Given the description of an element on the screen output the (x, y) to click on. 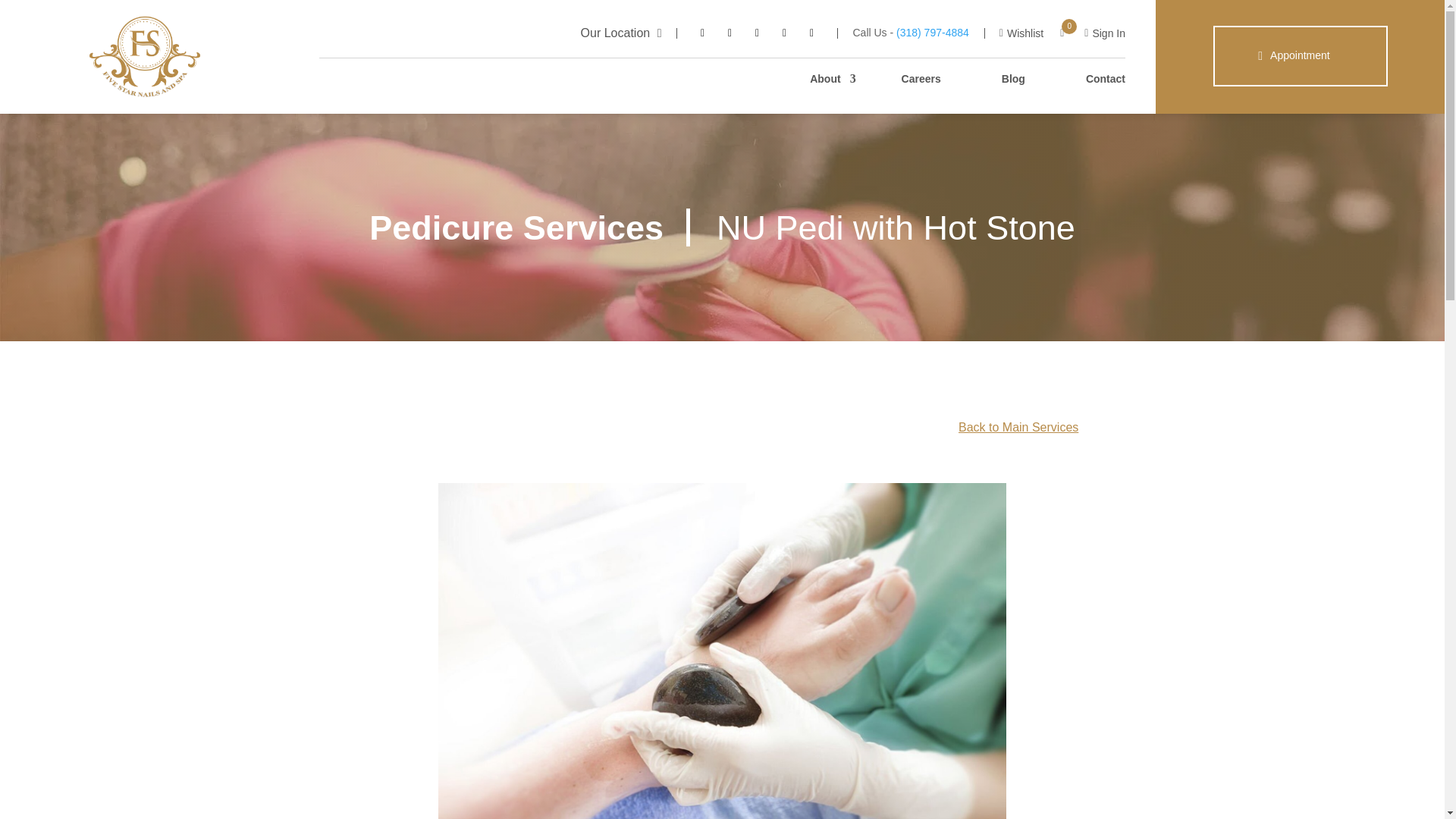
Sign In (1104, 32)
Blog (1013, 78)
Contact (1105, 78)
Wishlist (1020, 32)
Follow on Twitter (729, 33)
Follow on tumblr (783, 33)
Appointment (1299, 55)
Follow on LinkedIn (756, 33)
Follow on Facebook (702, 33)
About (824, 78)
Our Location (621, 32)
Careers (920, 78)
cropped-cropped-favicon.png (144, 56)
Follow on Instagram (811, 33)
